Given the description of an element on the screen output the (x, y) to click on. 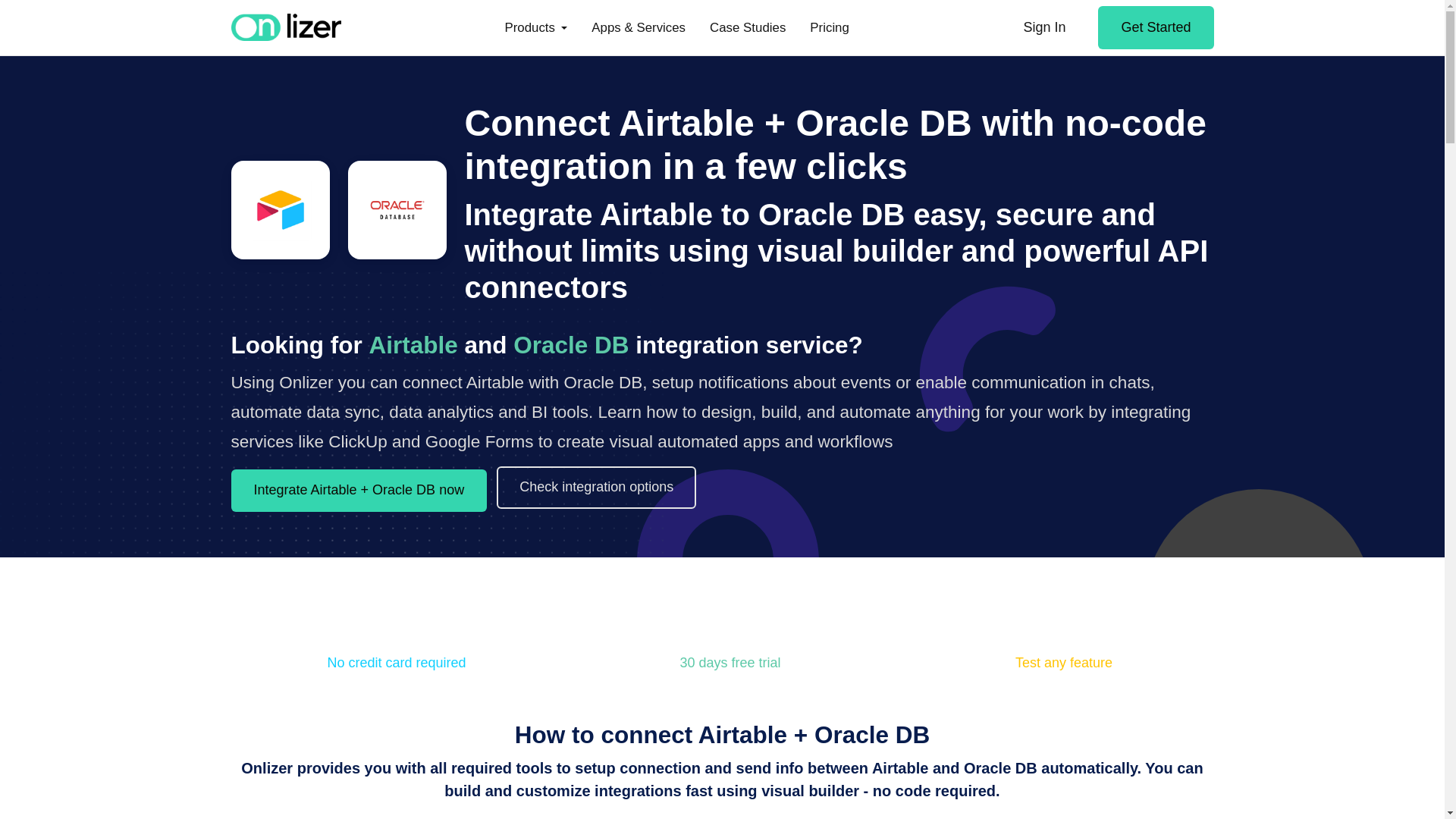
Get Started (1154, 26)
Pricing (829, 27)
Products (535, 27)
Sign In (1043, 26)
Case Studies (747, 27)
Check integration options (595, 487)
